Given the description of an element on the screen output the (x, y) to click on. 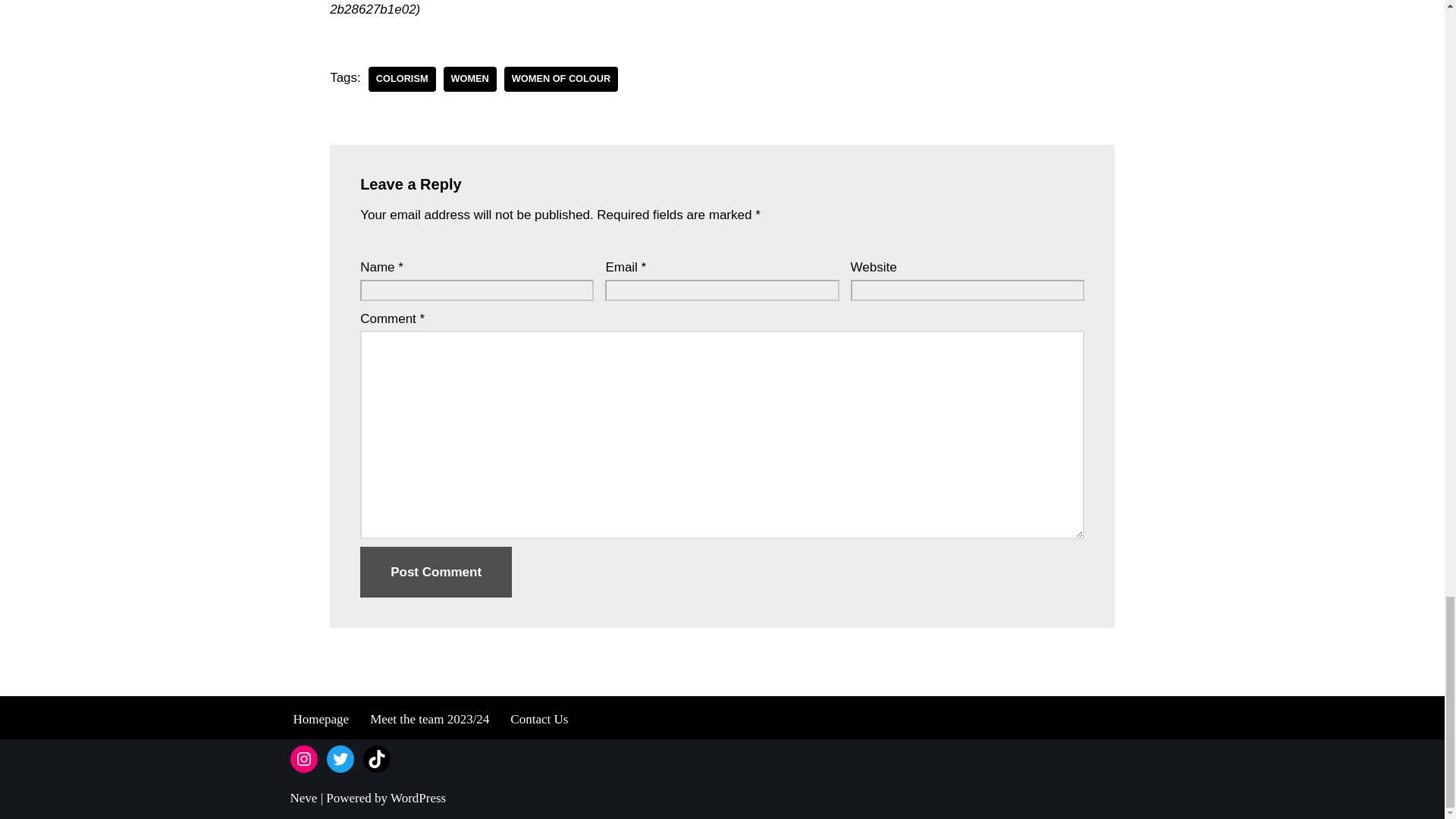
Neve (303, 798)
WOMEN (470, 78)
colorism (401, 78)
Contact Us (539, 718)
WOMEN OF COLOUR (560, 78)
COLORISM (401, 78)
WordPress (417, 798)
women of colour (560, 78)
Homepage (320, 718)
Post Comment (435, 572)
women (470, 78)
Post Comment (435, 572)
